Given the description of an element on the screen output the (x, y) to click on. 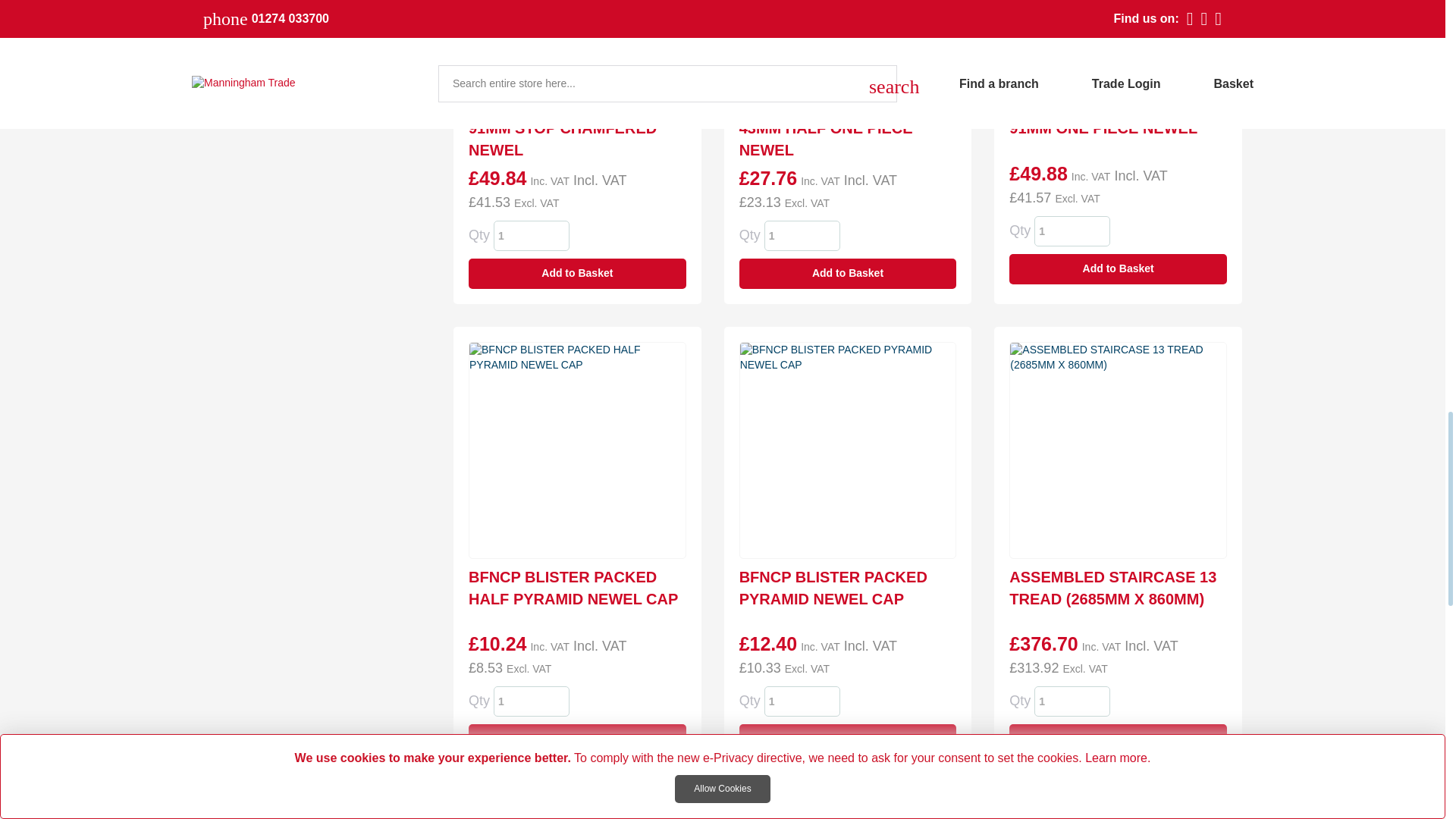
1 (1071, 701)
1 (1071, 231)
1 (802, 701)
1 (531, 701)
1 (531, 235)
1 (802, 235)
